Given the description of an element on the screen output the (x, y) to click on. 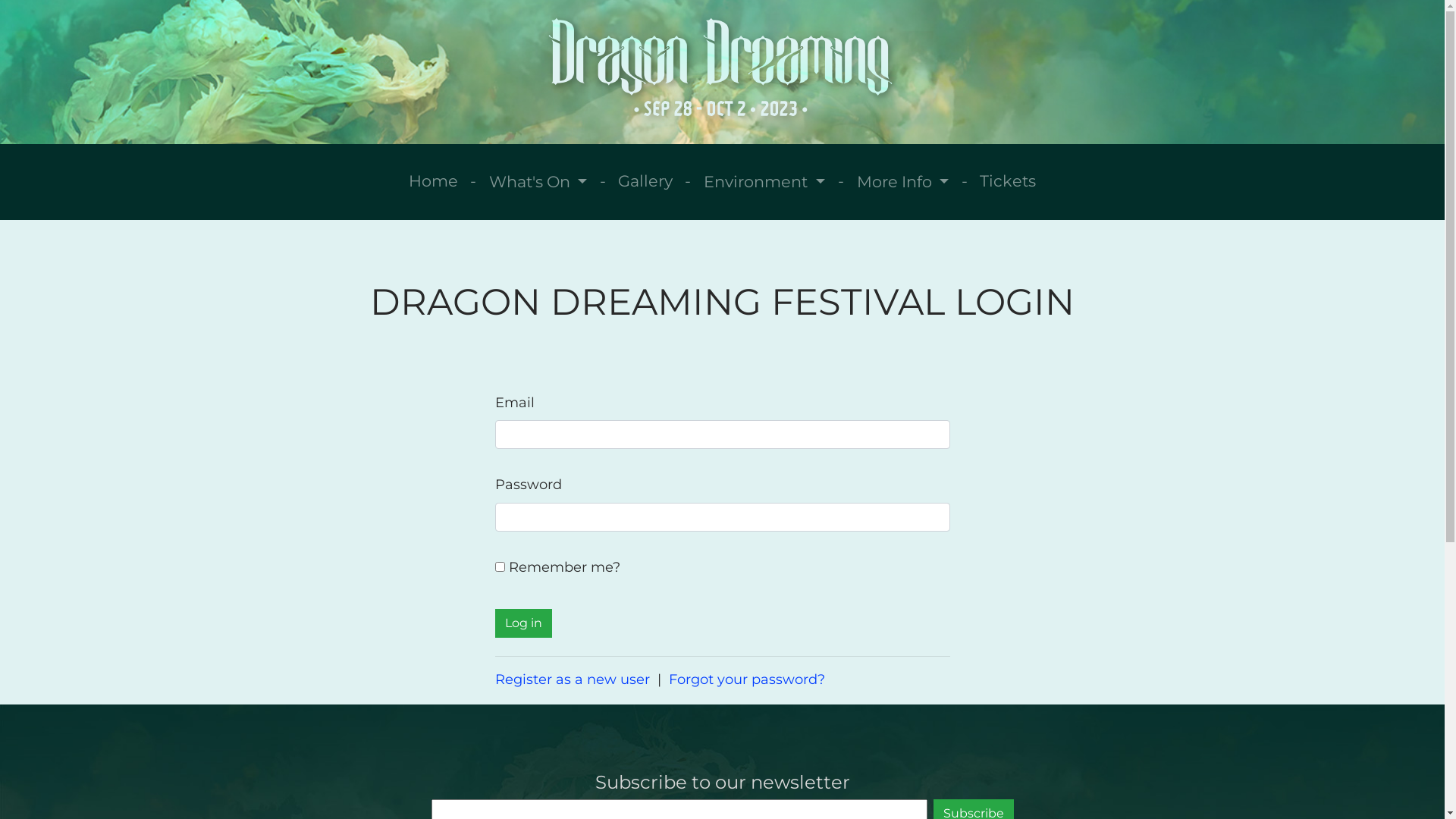
Tickets Element type: text (1007, 180)
Register as a new user Element type: text (571, 679)
Gallery Element type: text (644, 180)
Forgot your password? Element type: text (746, 679)
Dragon Dreaming Festival Element type: hover (721, 72)
Home Element type: text (433, 180)
Log in Element type: text (522, 622)
